Given the description of an element on the screen output the (x, y) to click on. 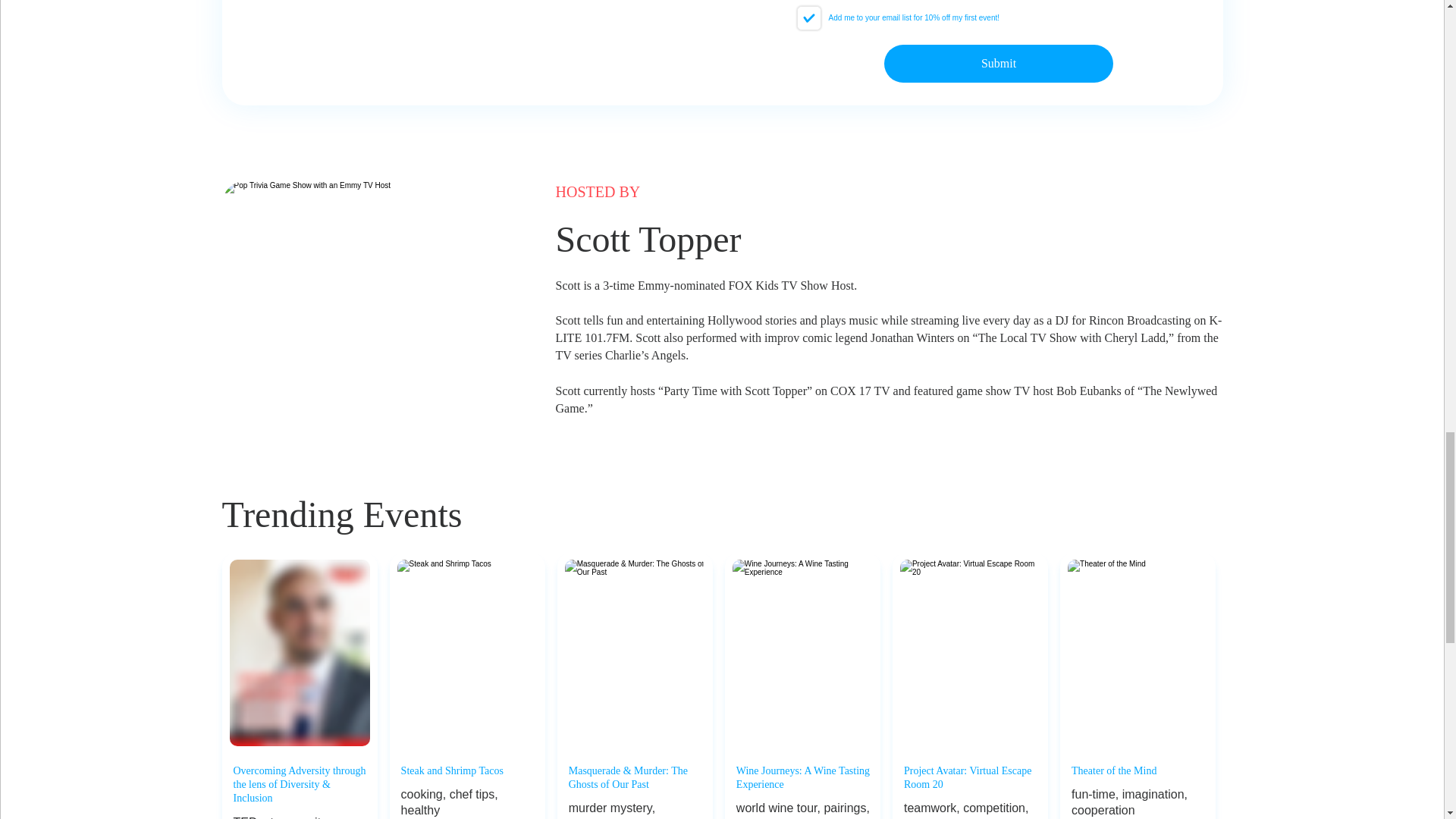
Submit (998, 63)
